Given the description of an element on the screen output the (x, y) to click on. 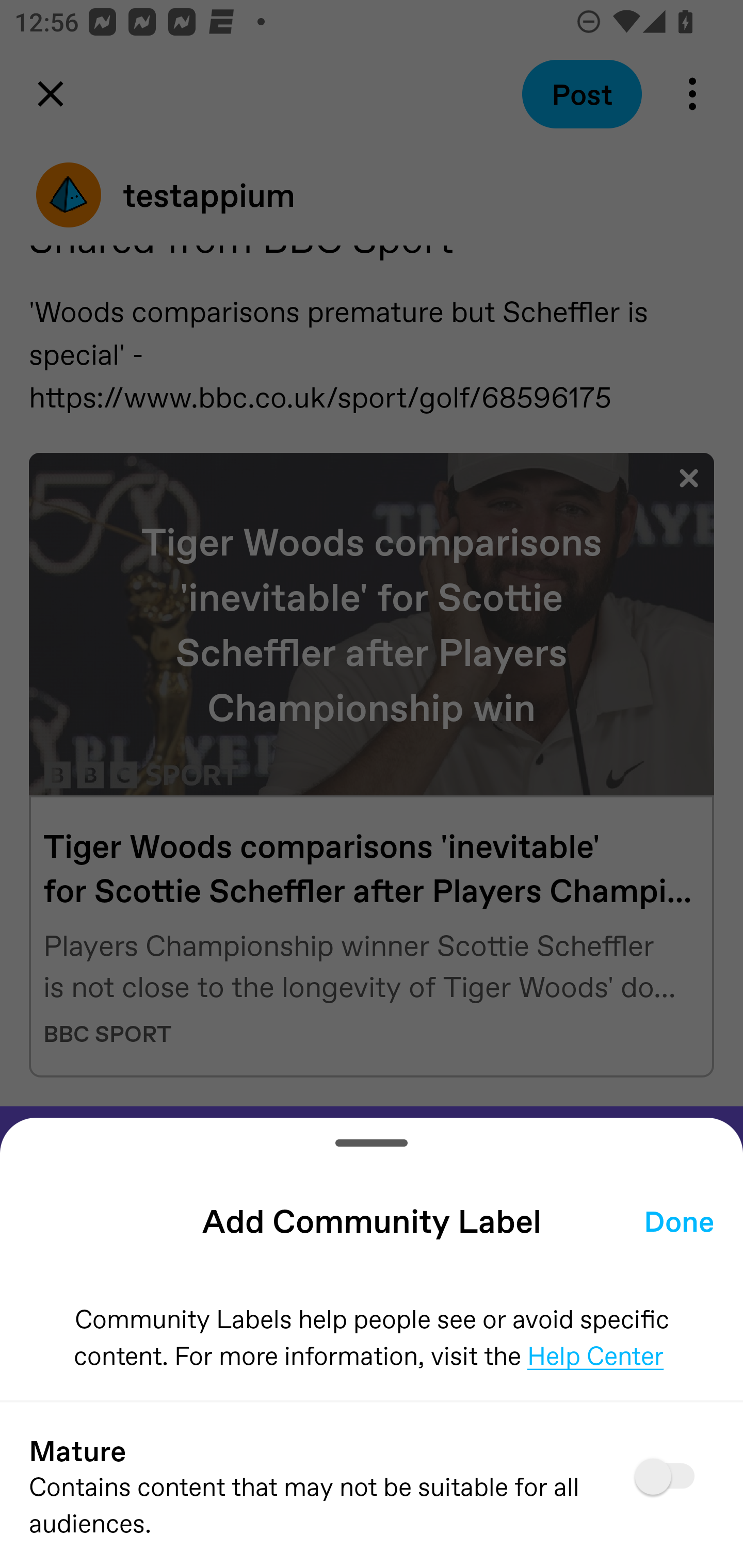
Done (679, 1220)
